Given the description of an element on the screen output the (x, y) to click on. 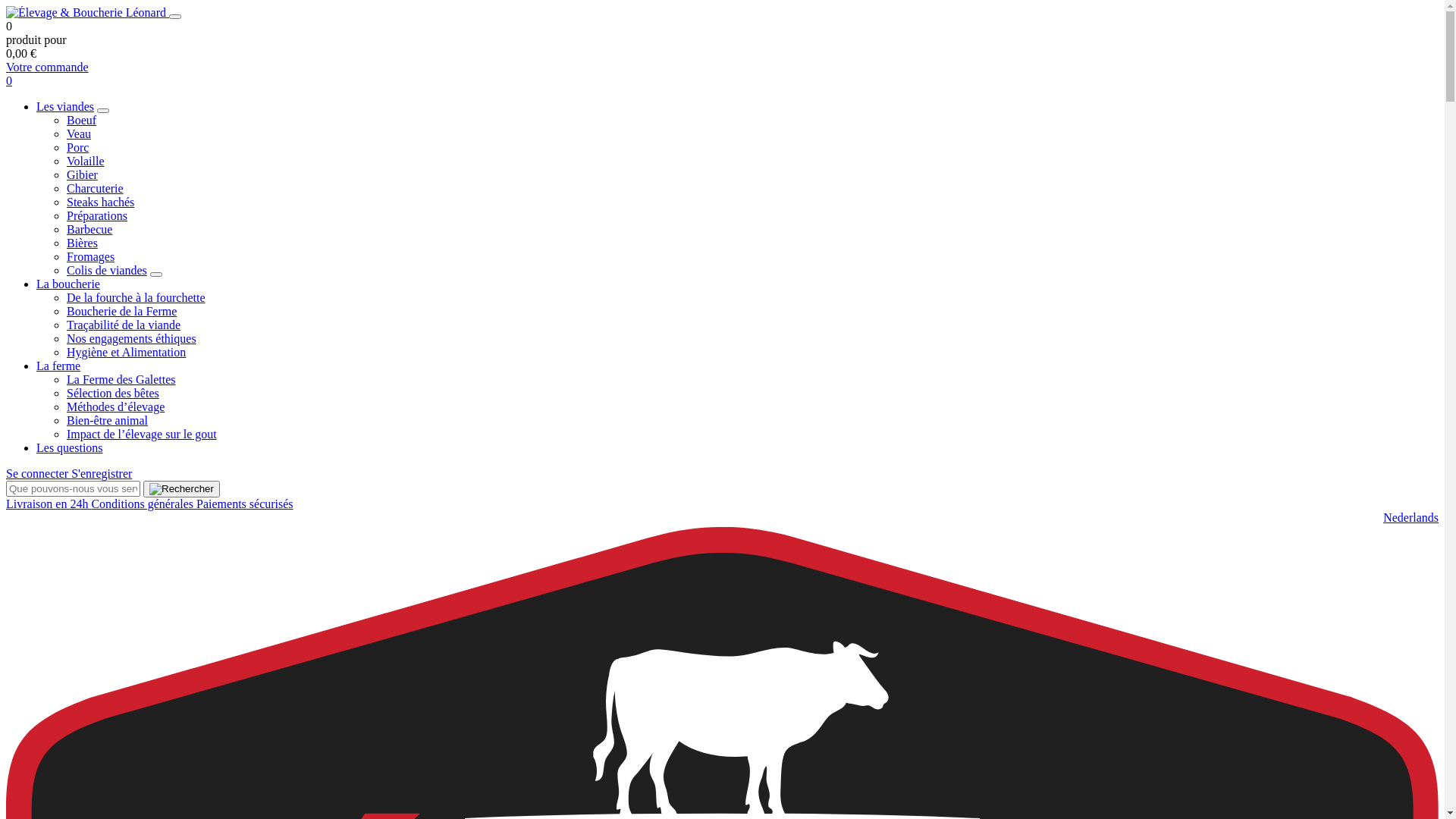
Fromages Element type: text (90, 256)
Gibier Element type: text (81, 174)
Boucherie de la Ferme Element type: text (121, 310)
Votre commande Element type: text (47, 66)
Nederlands Element type: text (1410, 517)
Volaille Element type: text (84, 160)
Colis de viandes Element type: text (106, 269)
Livraison en 24h Element type: text (48, 503)
Boeuf Element type: text (81, 119)
Les questions Element type: text (69, 447)
0 Element type: text (9, 80)
Les viandes Element type: text (65, 106)
Veau Element type: text (78, 133)
La boucherie Element type: text (68, 283)
La ferme Element type: text (58, 365)
S'enregistrer Element type: text (101, 473)
Porc Element type: text (77, 147)
Barbecue Element type: text (89, 228)
Charcuterie Element type: text (94, 188)
Se connecter Element type: text (38, 473)
La Ferme des Galettes Element type: text (120, 379)
